Given the description of an element on the screen output the (x, y) to click on. 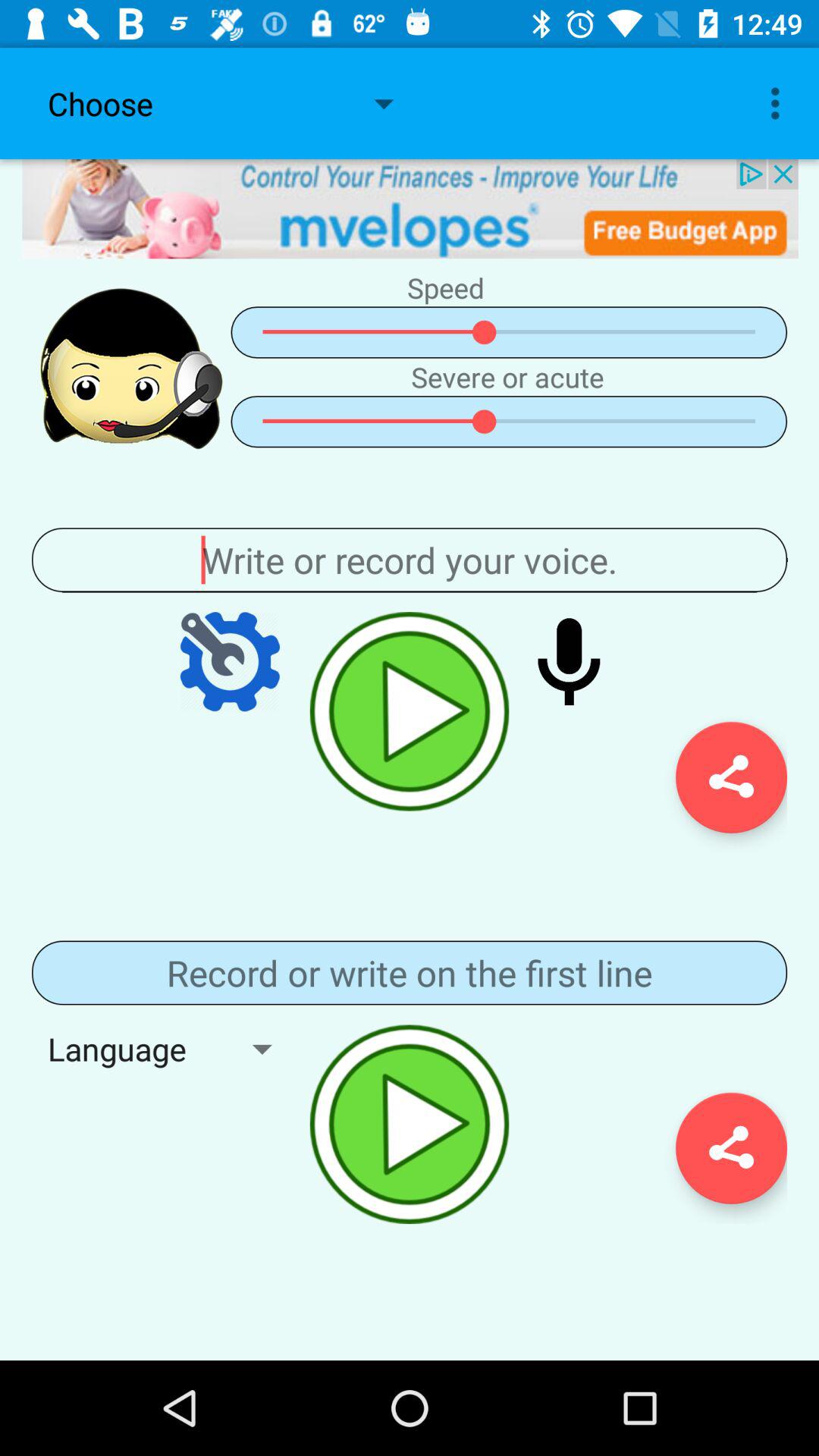
share recording (731, 1148)
